Given the description of an element on the screen output the (x, y) to click on. 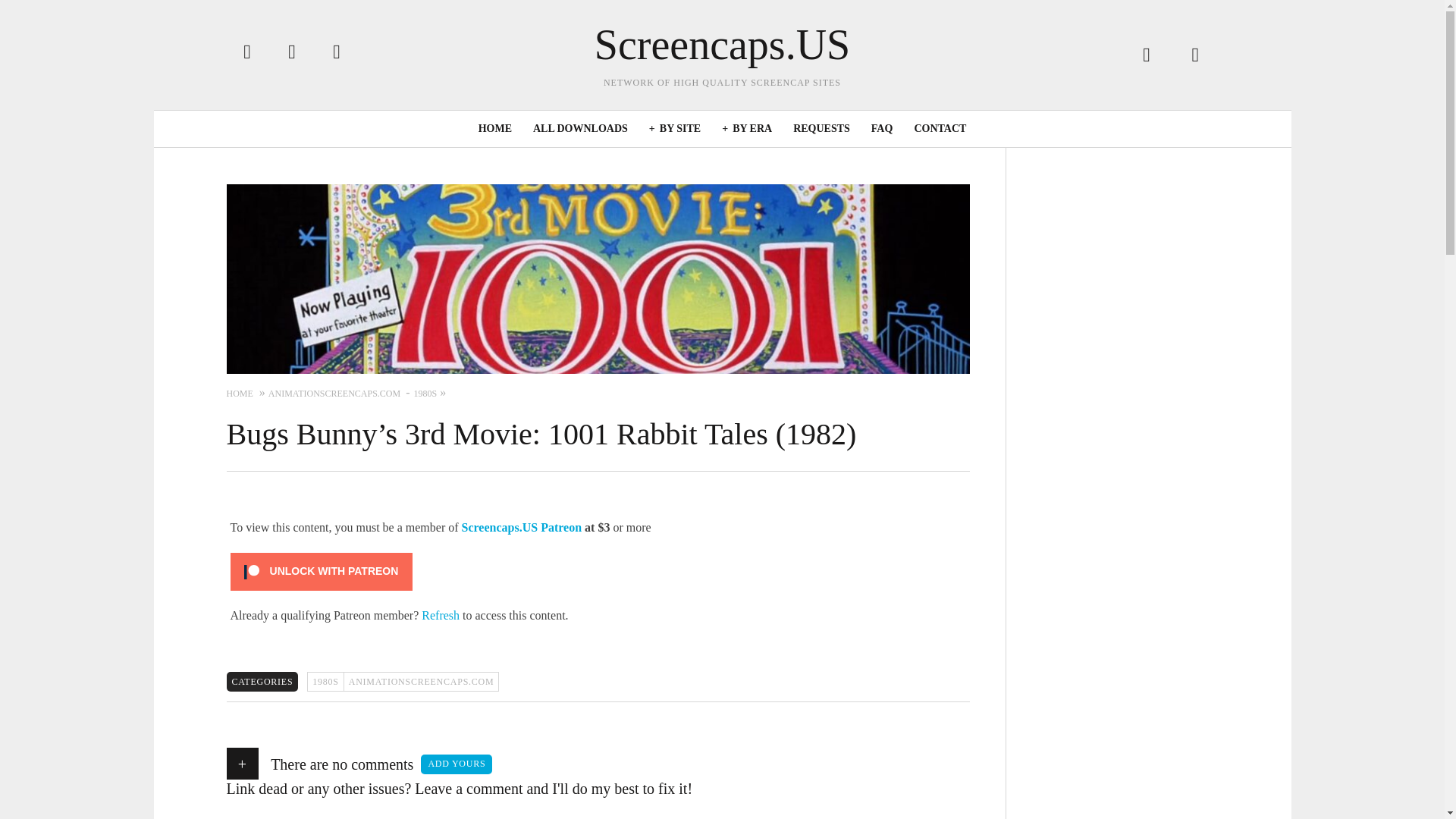
Screencaps.US (721, 45)
View all posts filed under AnimationScreencaps.com (333, 393)
HOME (495, 128)
ALL DOWNLOADS (579, 128)
1980S (425, 393)
ANIMATIONSCREENCAPS.COM (333, 393)
REQUESTS (821, 128)
View all posts in 1980s (324, 681)
Screencaps.US Patreon (521, 526)
FAQ (882, 128)
BY SITE (674, 128)
1980S (324, 681)
Refresh (441, 615)
HOME (238, 393)
View all posts in AnimationScreencaps.com (421, 681)
